Given the description of an element on the screen output the (x, y) to click on. 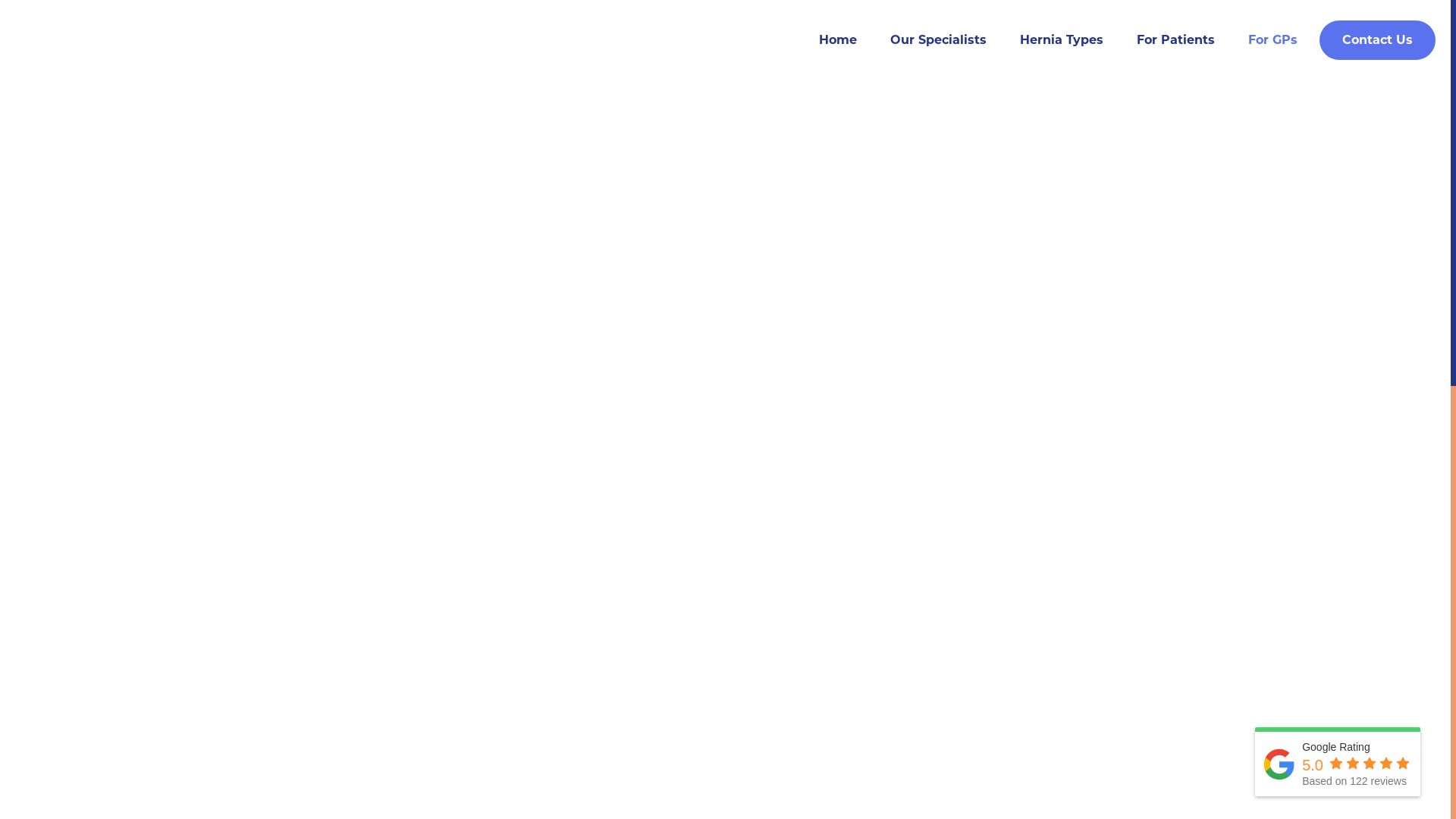
Contact Us Element type: text (1377, 39)
For Patients Element type: text (1175, 39)
Hernia Types Element type: text (1061, 39)
Our Specialists Element type: text (937, 39)
For GPs Element type: text (1272, 39)
Home Element type: text (837, 39)
